Given the description of an element on the screen output the (x, y) to click on. 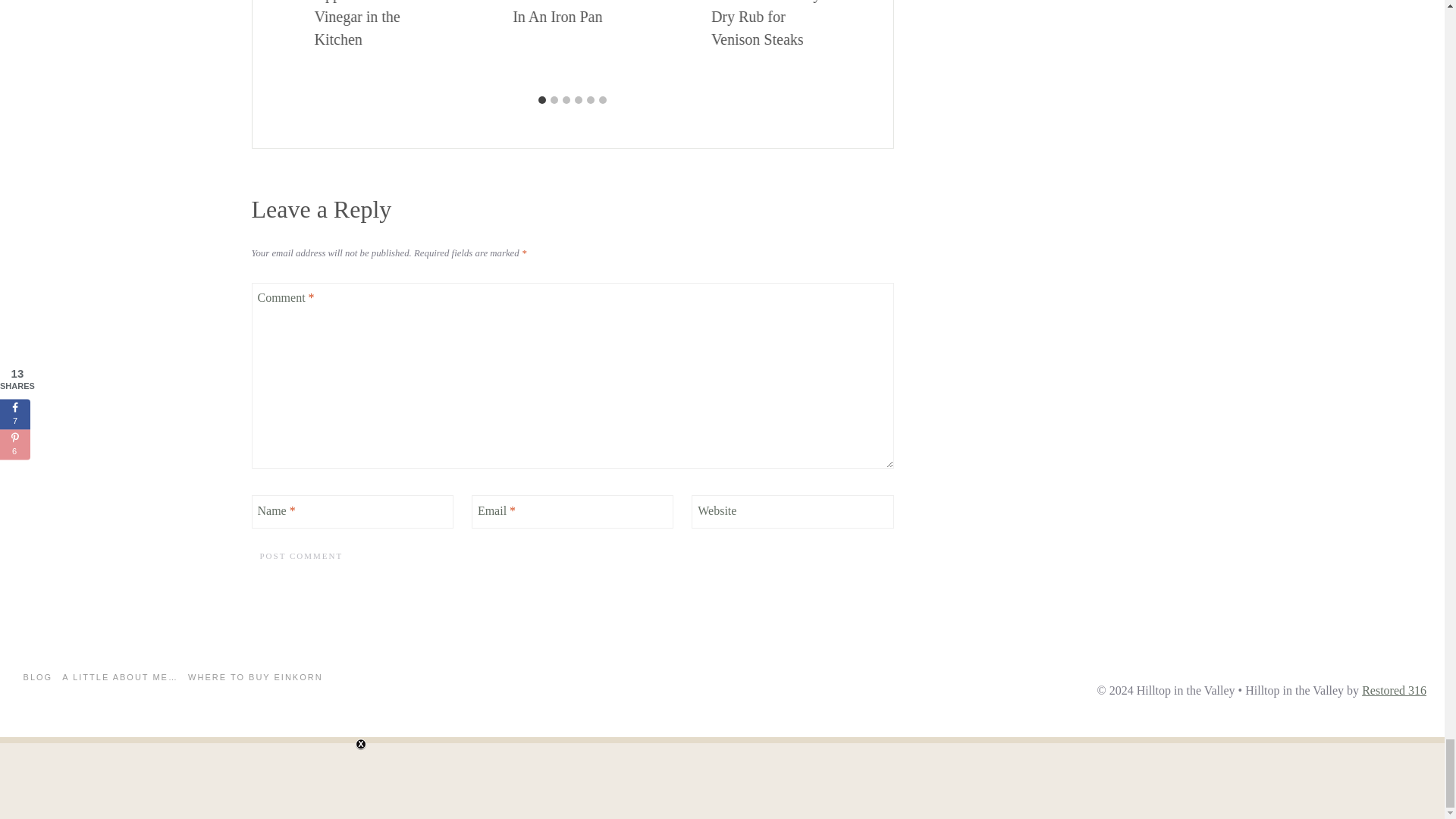
Post Comment (301, 555)
